Given the description of an element on the screen output the (x, y) to click on. 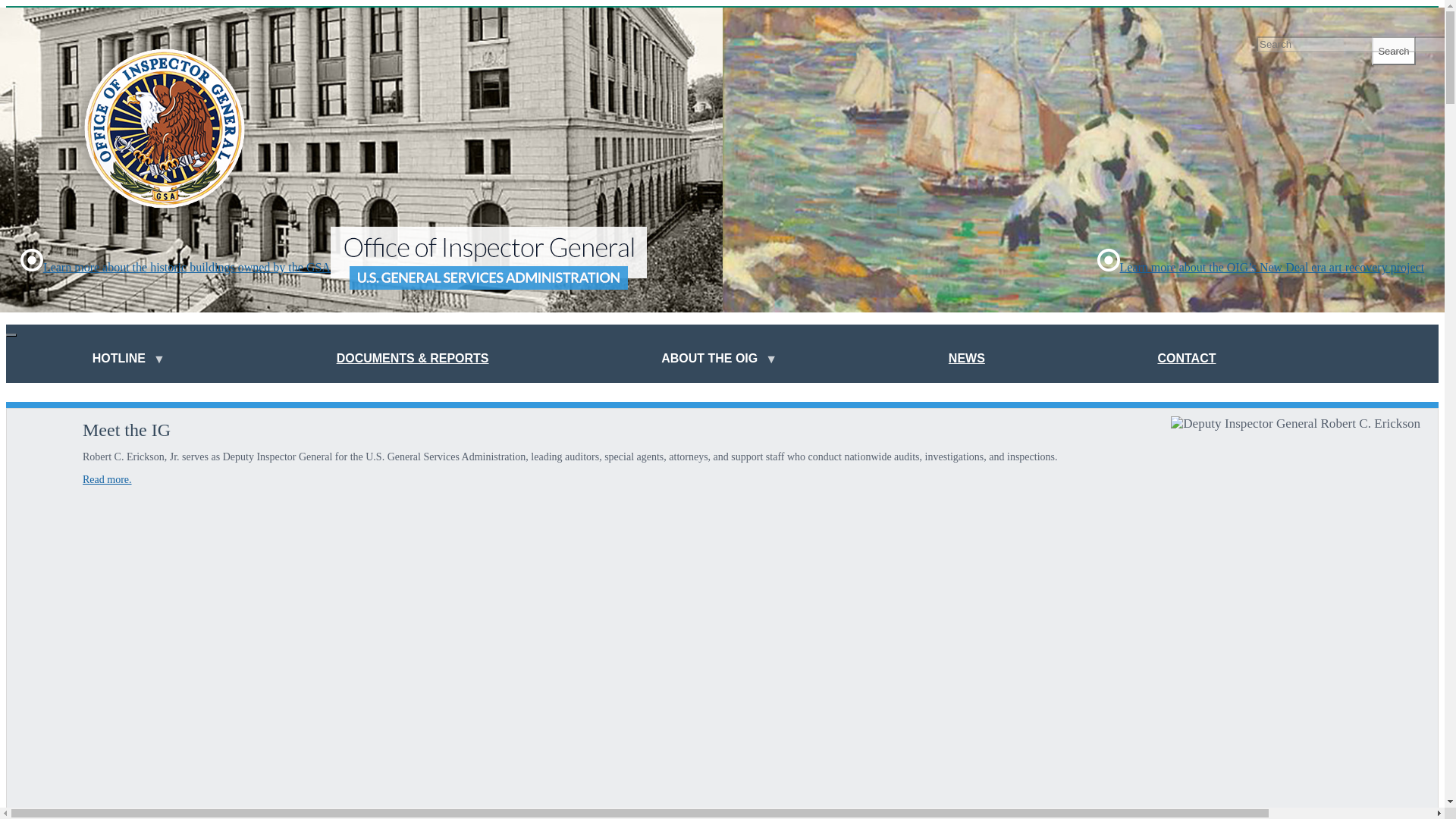
Learn more about the historic buildings owned by the GSA (175, 267)
Read more. (107, 479)
CONTACT (1185, 360)
NEWS (966, 360)
Search (1393, 50)
